Given the description of an element on the screen output the (x, y) to click on. 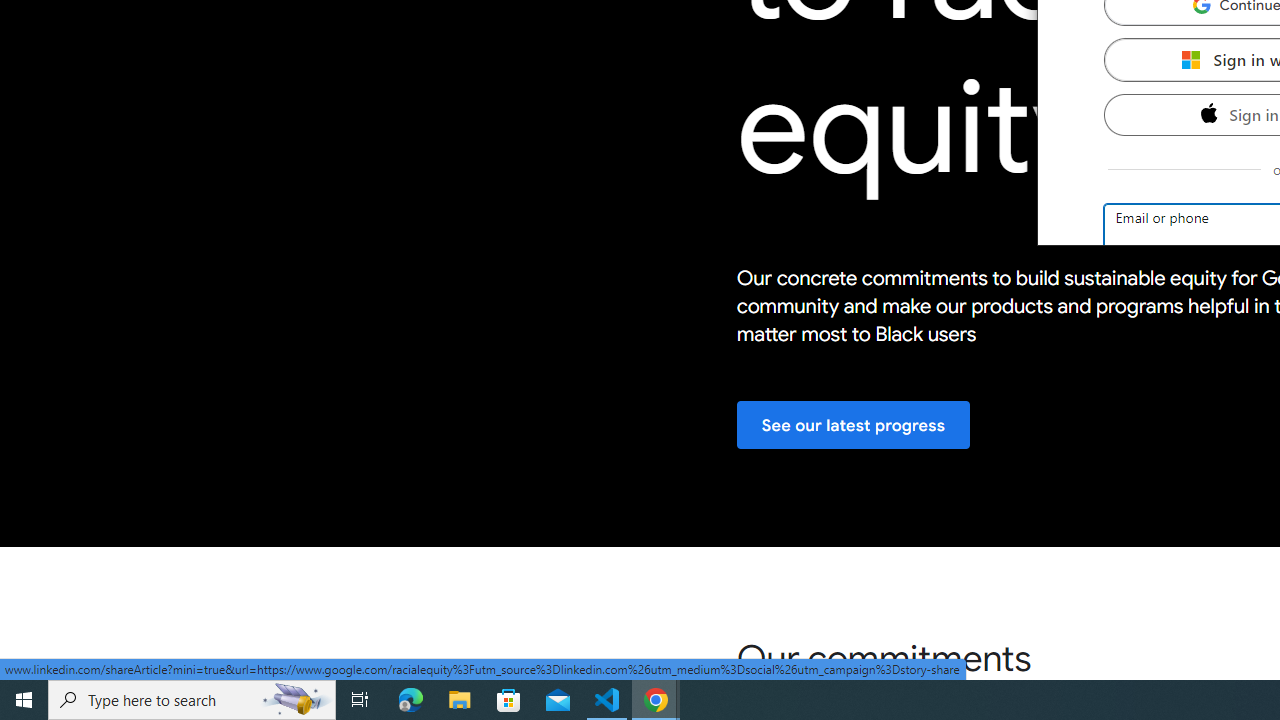
Search highlights icon opens search home window (295, 699)
Visual Studio Code - 1 running window (607, 699)
Microsoft Edge (411, 699)
Microsoft (1190, 59)
Type here to search (191, 699)
Microsoft Store (509, 699)
Task View (359, 699)
Start (24, 699)
File Explorer (460, 699)
Google Chrome - 3 running windows (656, 699)
